Given the description of an element on the screen output the (x, y) to click on. 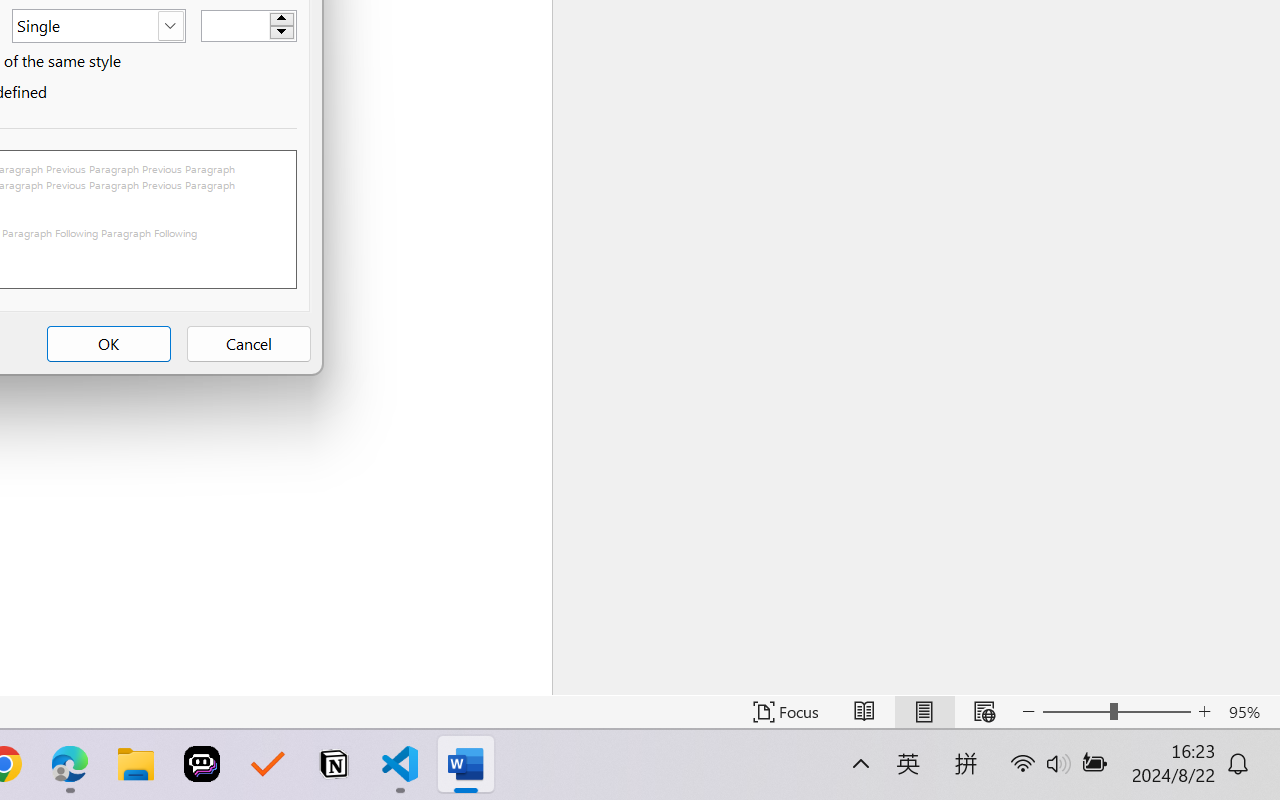
Cancel (248, 343)
Zoom 95% (1249, 712)
